Given the description of an element on the screen output the (x, y) to click on. 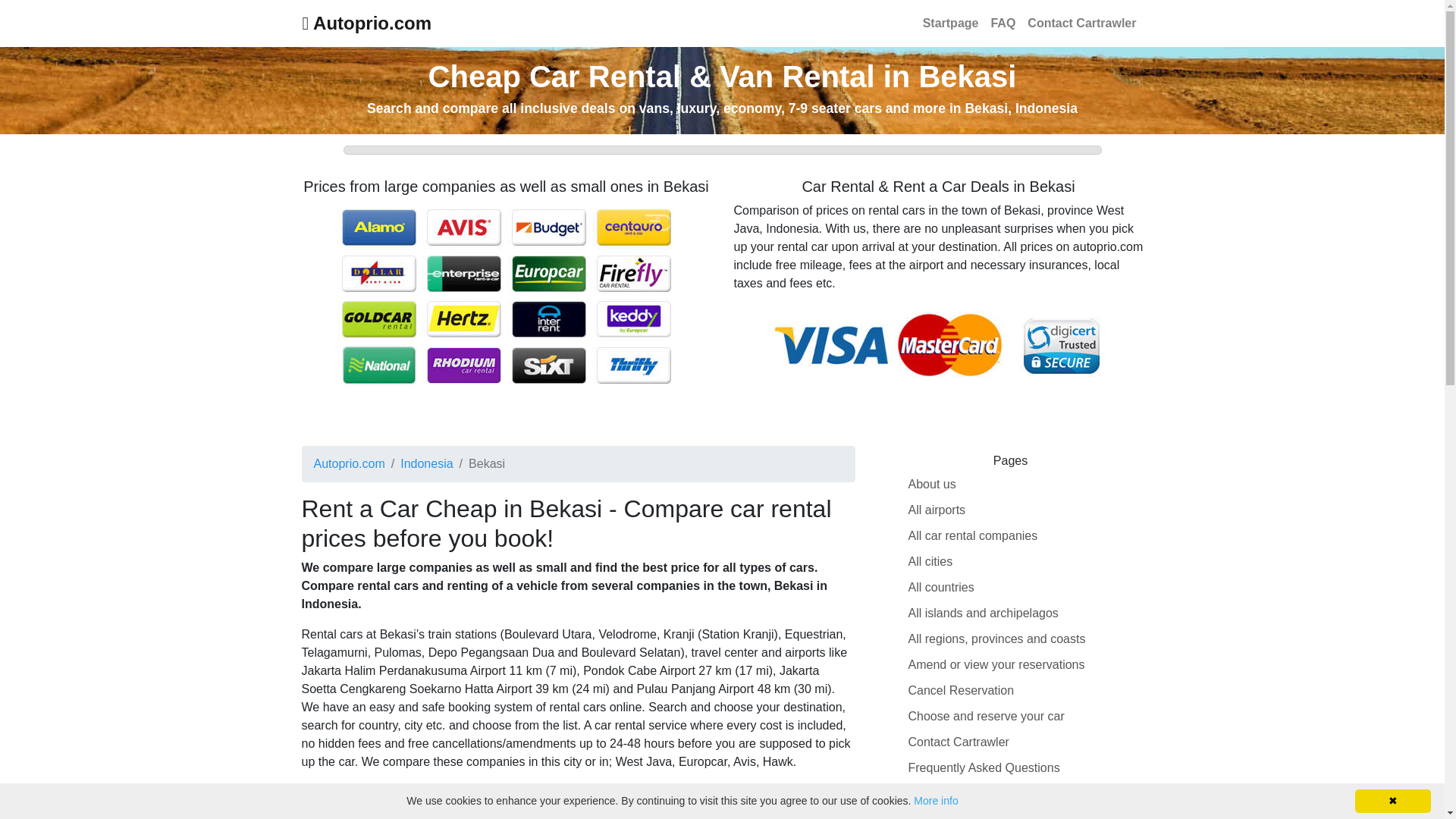
Autoprio.com (349, 463)
Autoprio.com (365, 23)
 Autoprio.com (365, 23)
Compare car rental companies Bekasi (505, 294)
Startpage (951, 23)
FAQ (1003, 23)
All islands and archipelagos (983, 612)
Cancel Reservation (961, 689)
Amend or view your reservations (996, 664)
All airports (937, 509)
